Given the description of an element on the screen output the (x, y) to click on. 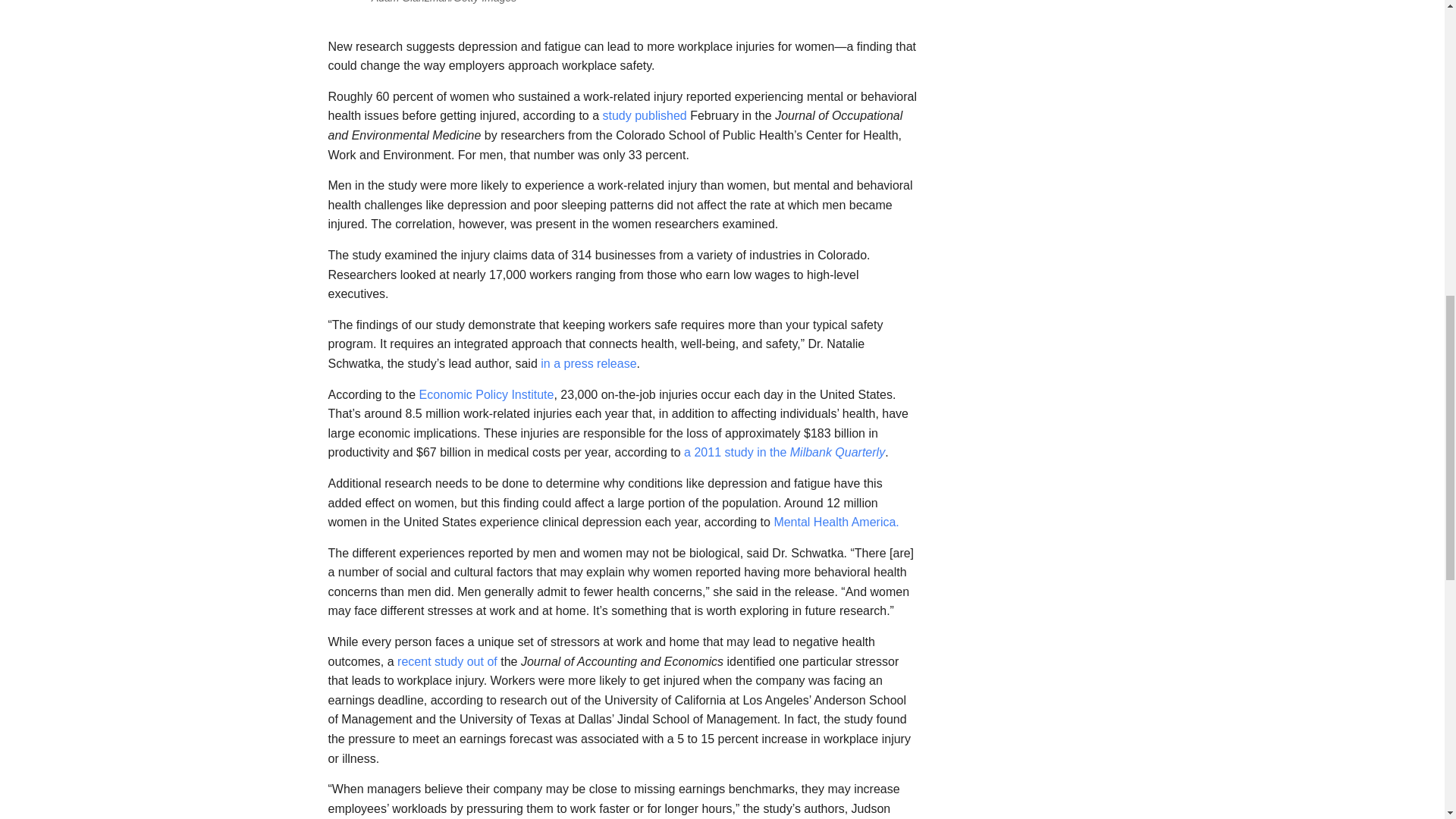
Mental Health America. (835, 521)
Economic Policy Institute (486, 394)
recent study out of (447, 661)
in a press release (588, 363)
a 2011 study in the Milbank Quarterly (784, 451)
study published (644, 115)
